Given the description of an element on the screen output the (x, y) to click on. 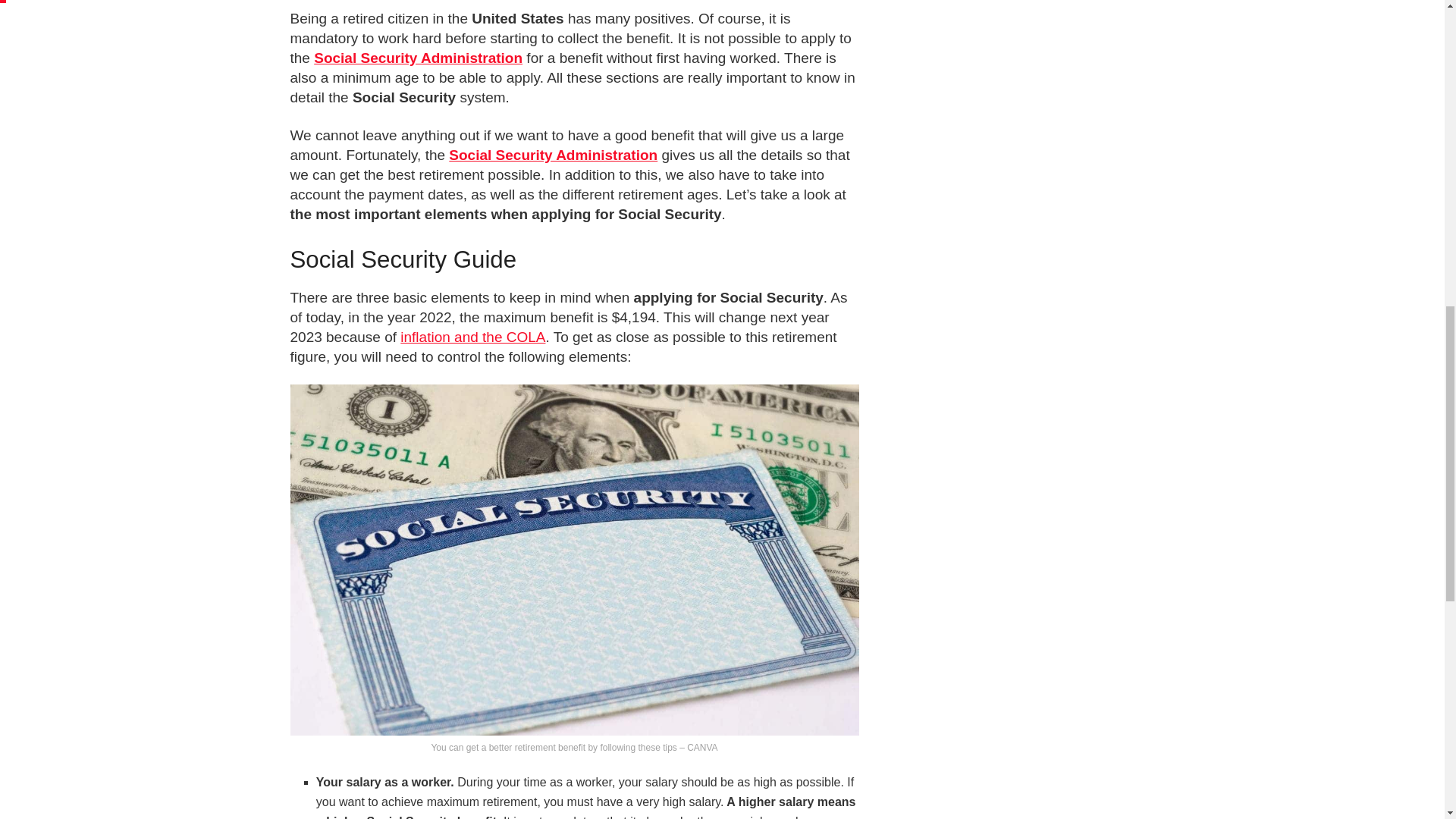
Social Security Administration (553, 154)
inflation and the COLA (472, 336)
Social Security Administration (418, 57)
